Given the description of an element on the screen output the (x, y) to click on. 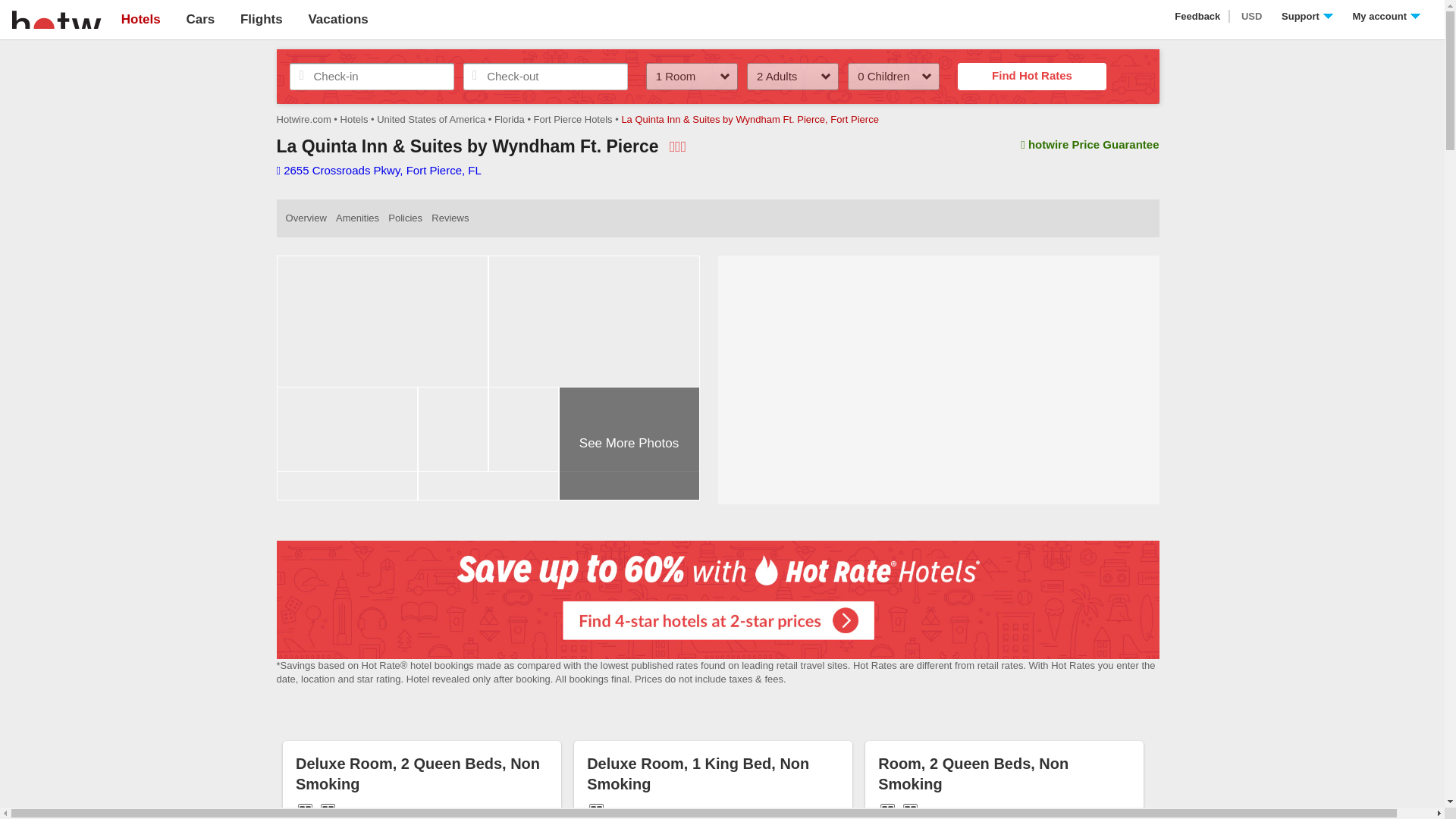
Cars (200, 19)
My account (1386, 16)
Hotwire (56, 18)
Feedback (1198, 16)
Hotels (140, 19)
Vacations (337, 19)
Flights (261, 19)
Support (1307, 16)
